Given the description of an element on the screen output the (x, y) to click on. 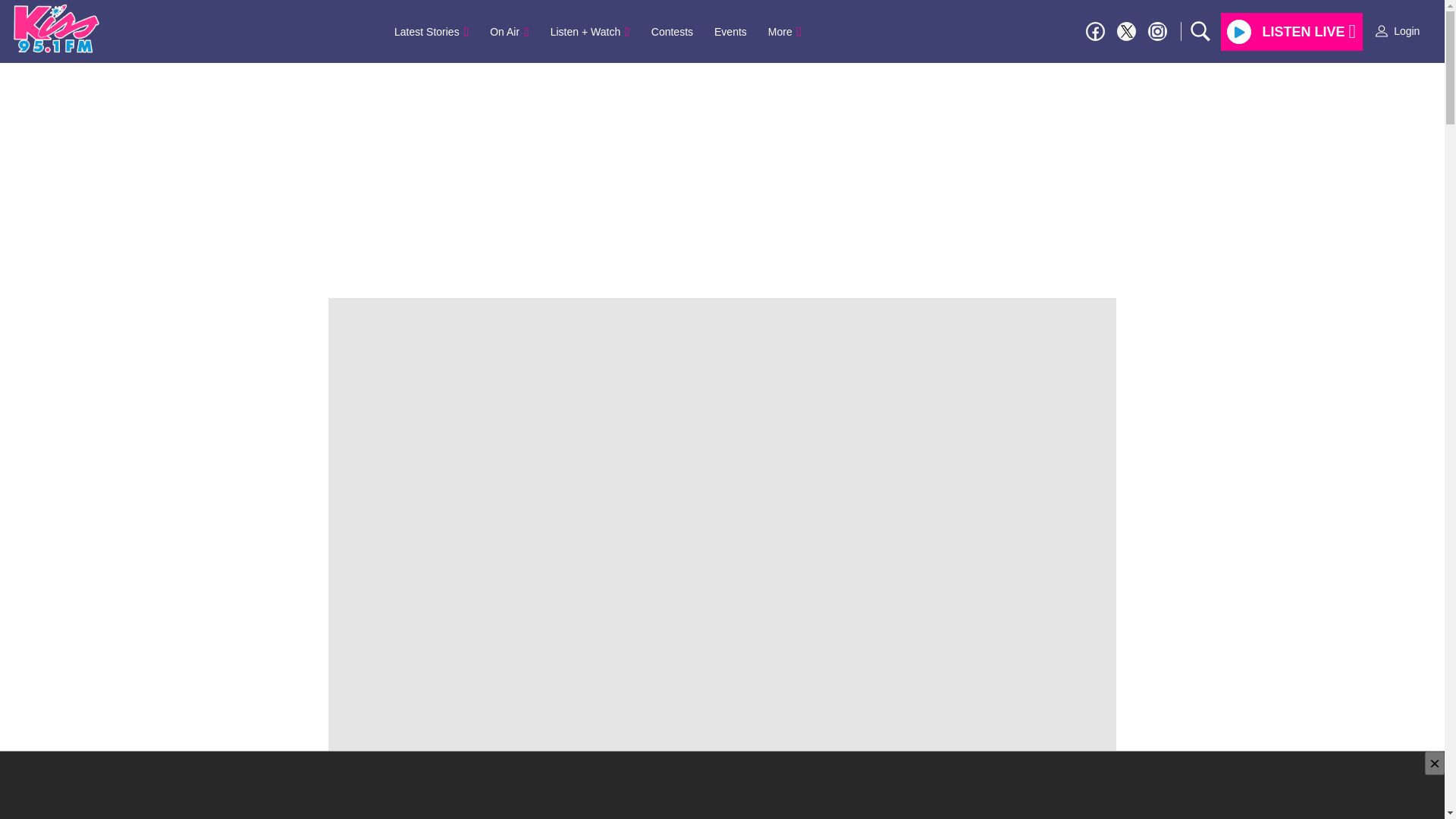
Events (730, 31)
Contests (671, 31)
Latest Stories (431, 31)
Close AdCheckmark indicating ad close (1434, 763)
On Air (508, 31)
More (784, 31)
